Given the description of an element on the screen output the (x, y) to click on. 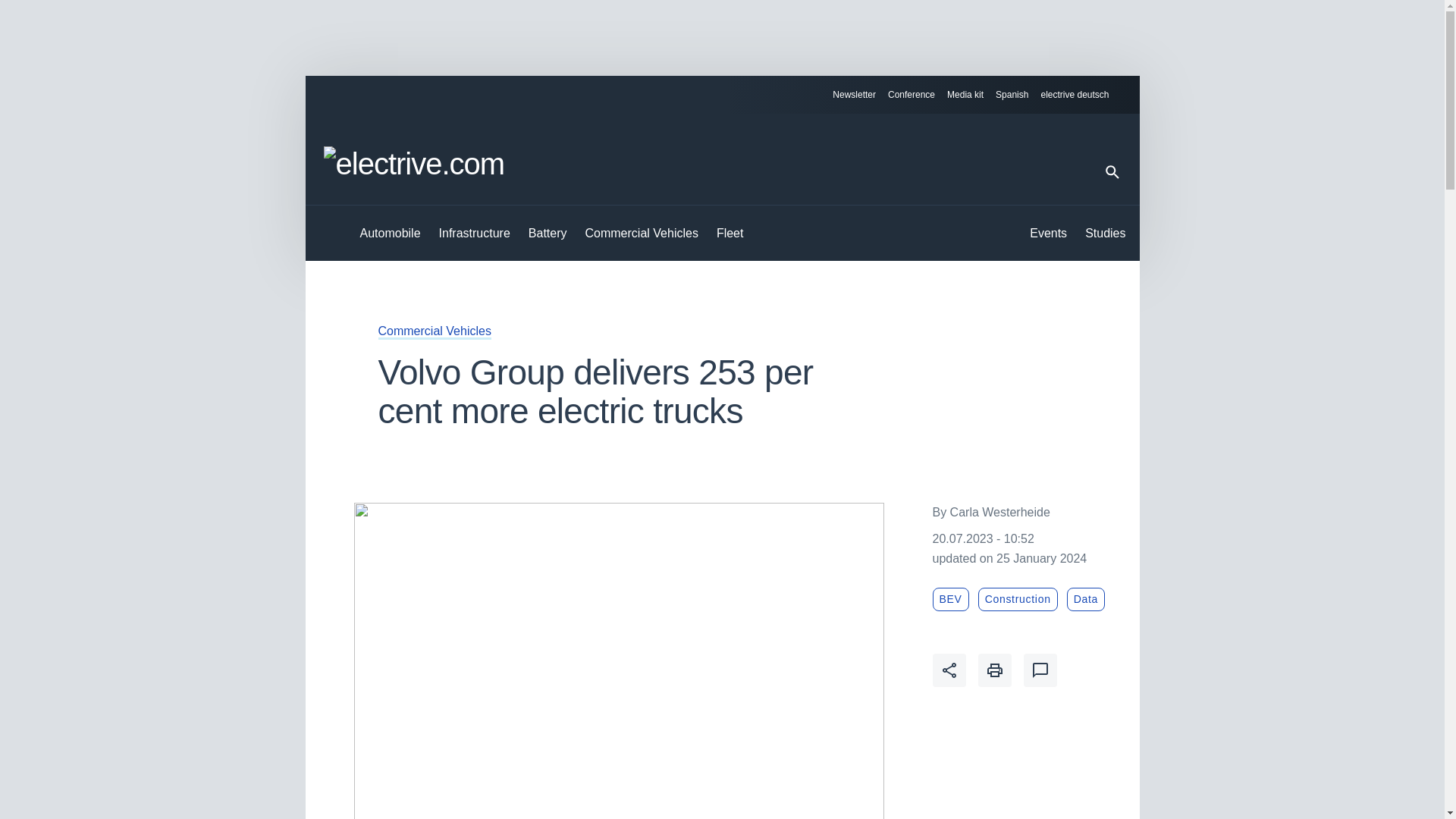
electrive deutsch (1081, 95)
Conference (911, 95)
Kommentare (1040, 670)
Teilen (949, 670)
Fleet (730, 233)
Commercial Vehicles (641, 233)
Newsletter (854, 95)
Media kit (965, 95)
Spanish (1011, 95)
Studies (1104, 233)
Battery (547, 233)
Infrastructure (475, 233)
Drucken (994, 670)
Events (1048, 233)
Commercial Vehicles (433, 330)
